Given the description of an element on the screen output the (x, y) to click on. 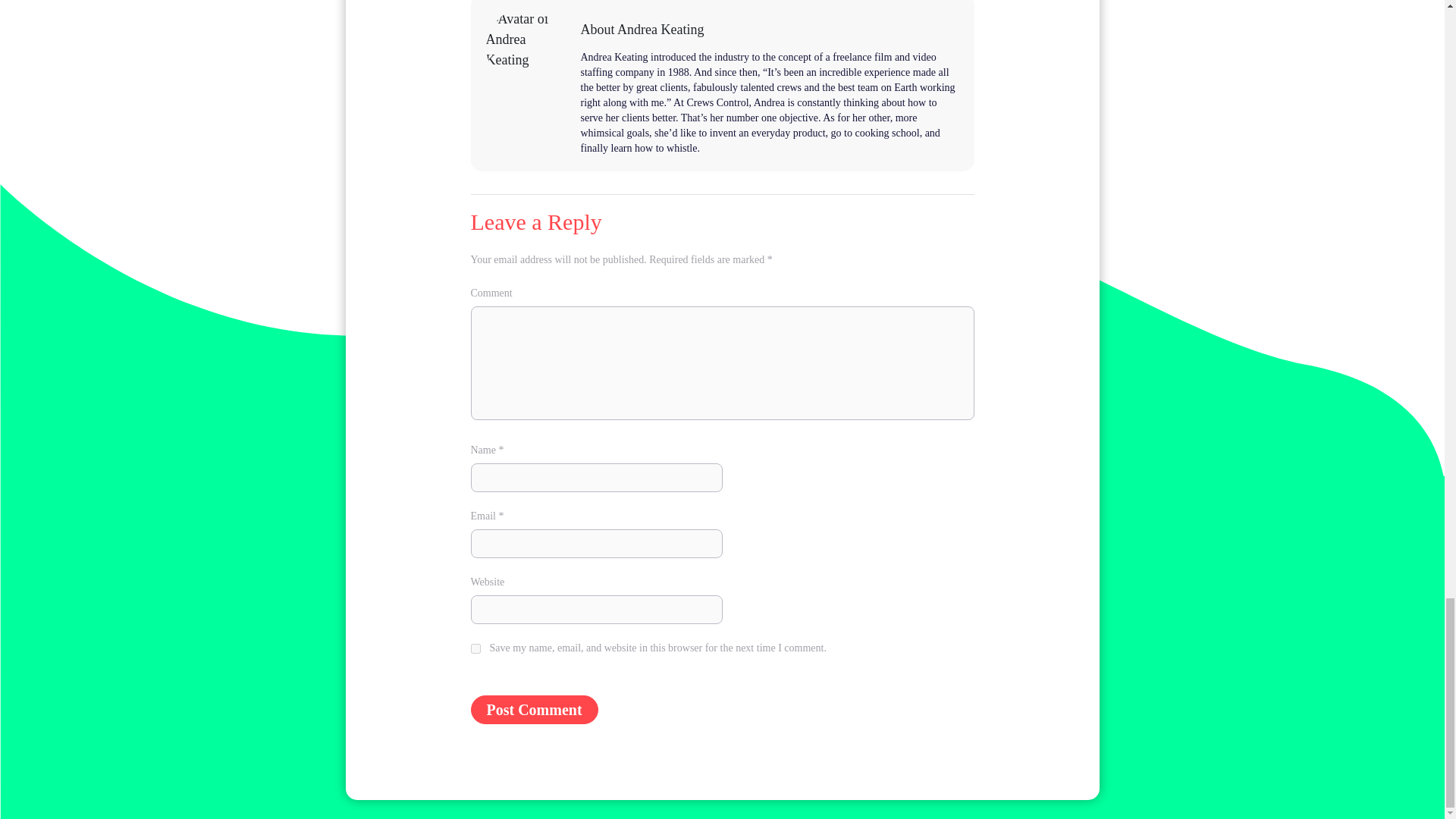
Post Comment (533, 709)
Post Comment (533, 709)
yes (475, 648)
